Given the description of an element on the screen output the (x, y) to click on. 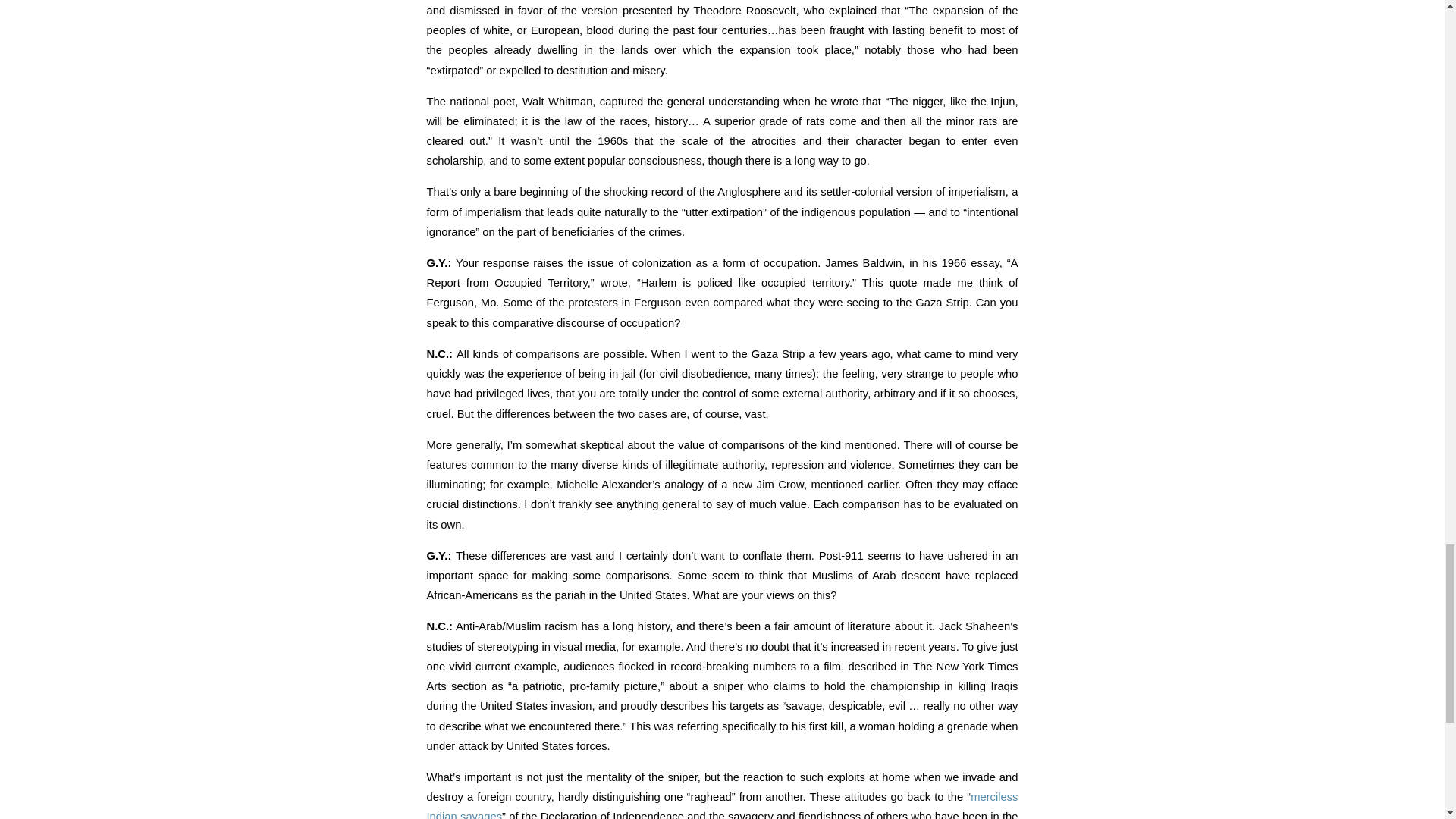
merciless Indian savages (721, 805)
